Given the description of an element on the screen output the (x, y) to click on. 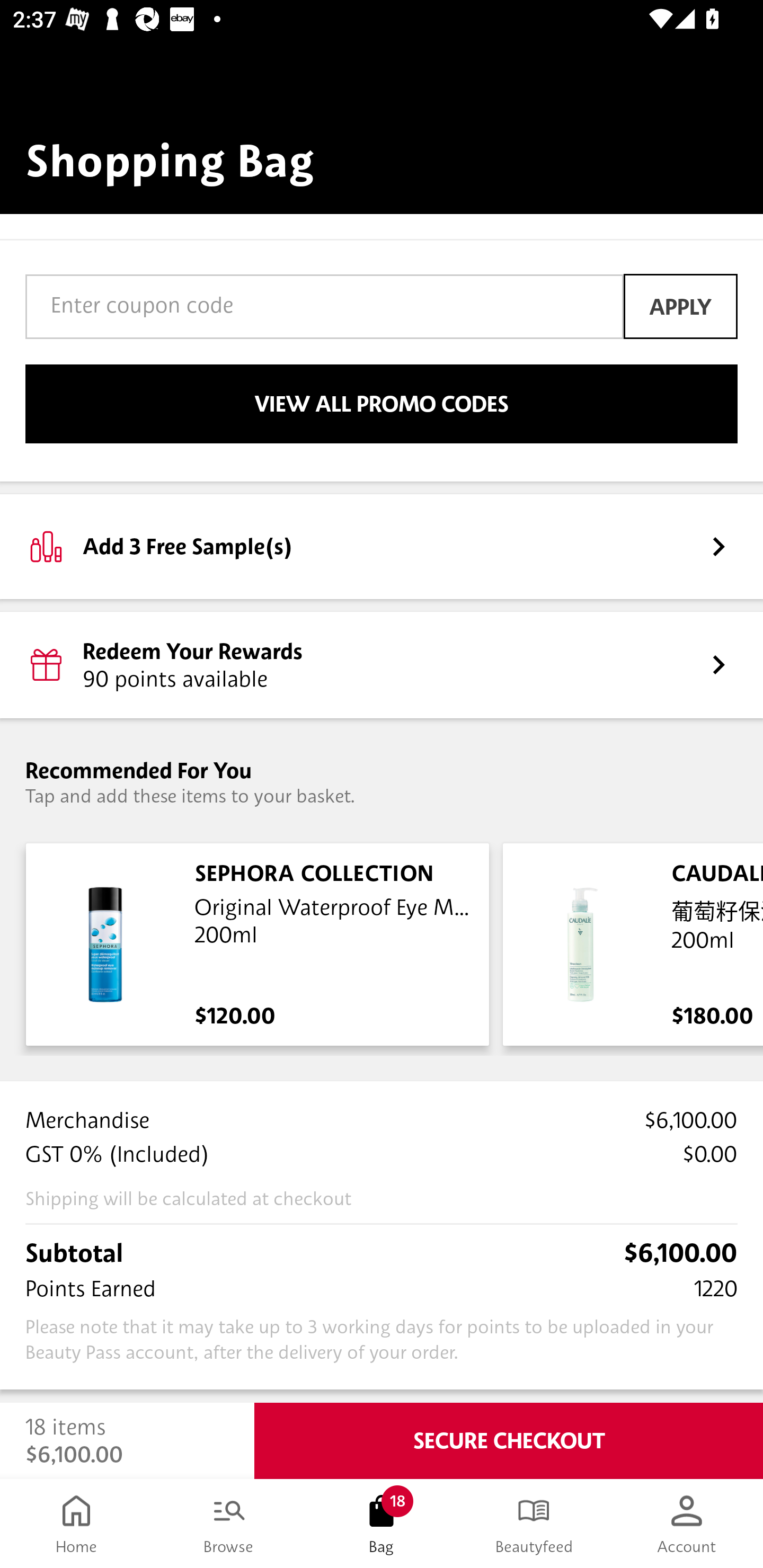
APPLY (680, 306)
Enter coupon code (324, 306)
VIEW ALL PROMO CODES (381, 403)
Add 3 Free Sample(s) (381, 545)
Redeem Your Rewards 90 points available (381, 664)
CAUDALIE 葡萄籽保濕潔面乳 200ml $180.00 (629, 943)
SECURE CHECKOUT (508, 1440)
Home (76, 1523)
Browse (228, 1523)
Beautyfeed (533, 1523)
Account (686, 1523)
